Given the description of an element on the screen output the (x, y) to click on. 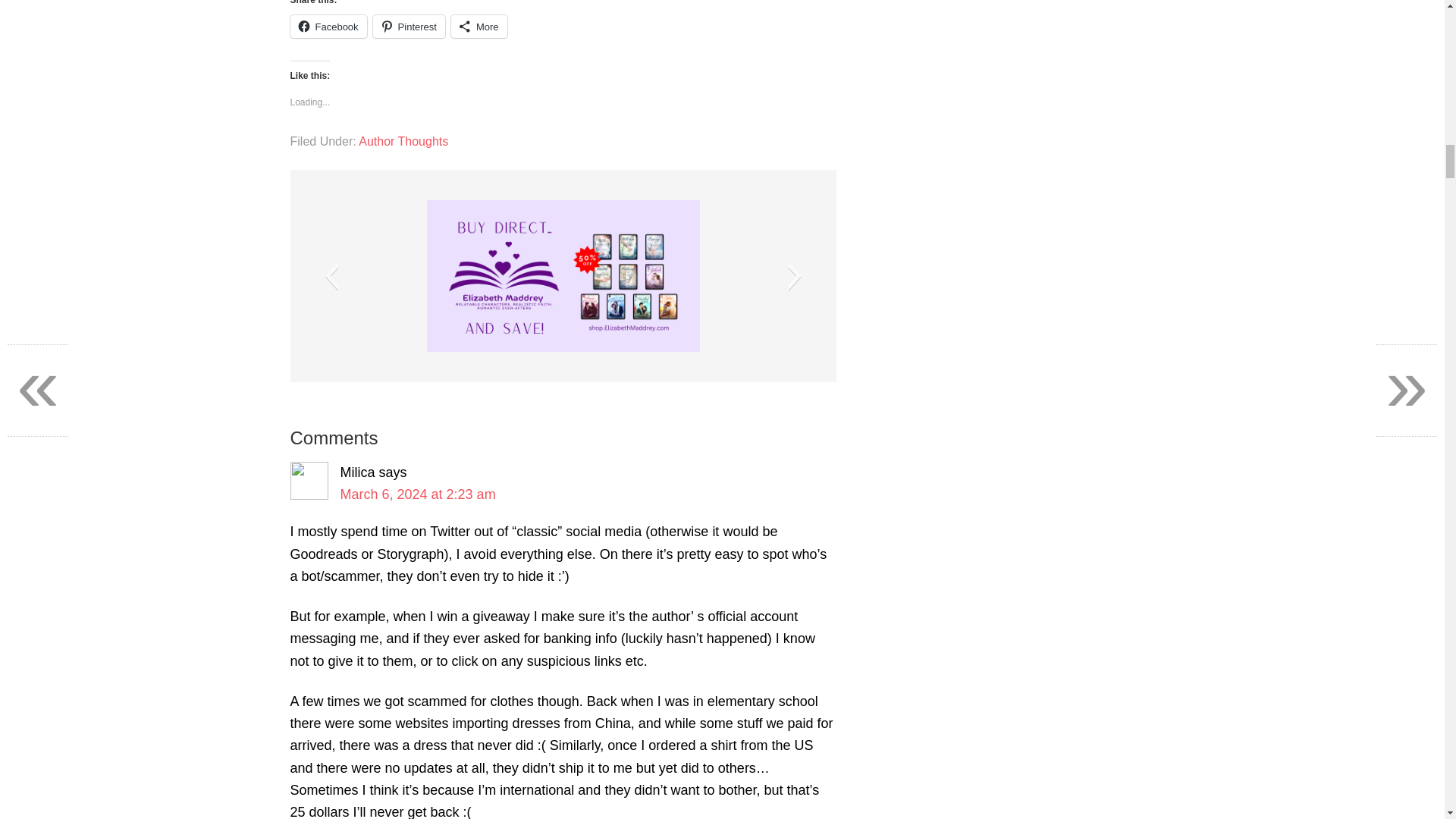
Click to share on Pinterest (408, 26)
Author Thoughts (403, 141)
Click to share on Facebook (327, 26)
March 6, 2024 at 2:23 am (417, 494)
Facebook (327, 26)
Pinterest (408, 26)
More (478, 26)
